Given the description of an element on the screen output the (x, y) to click on. 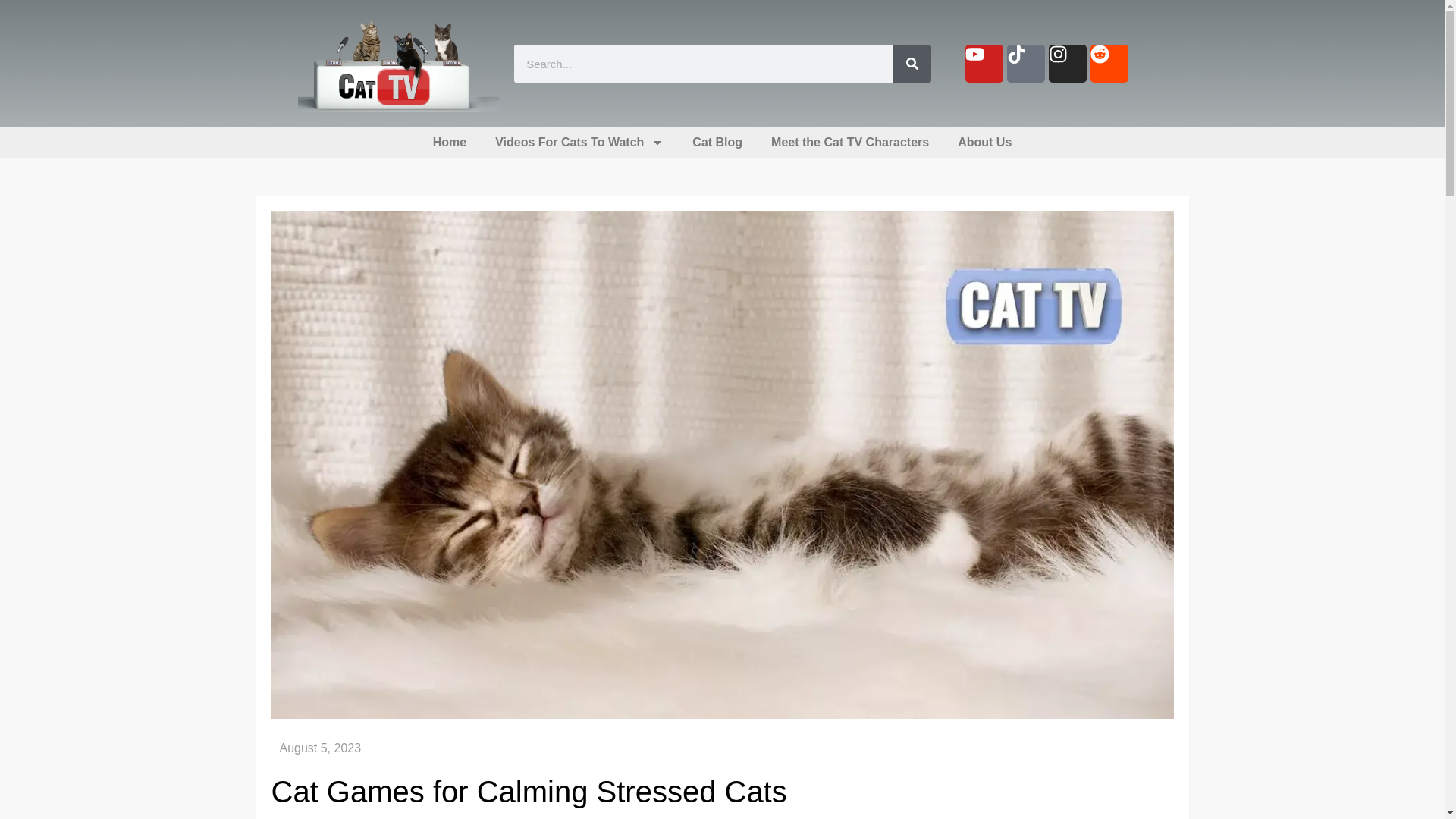
Meet the Cat TV Characters (850, 142)
Cat Blog (717, 142)
Home (449, 142)
About Us (984, 142)
Videos For Cats To Watch (578, 142)
